Given the description of an element on the screen output the (x, y) to click on. 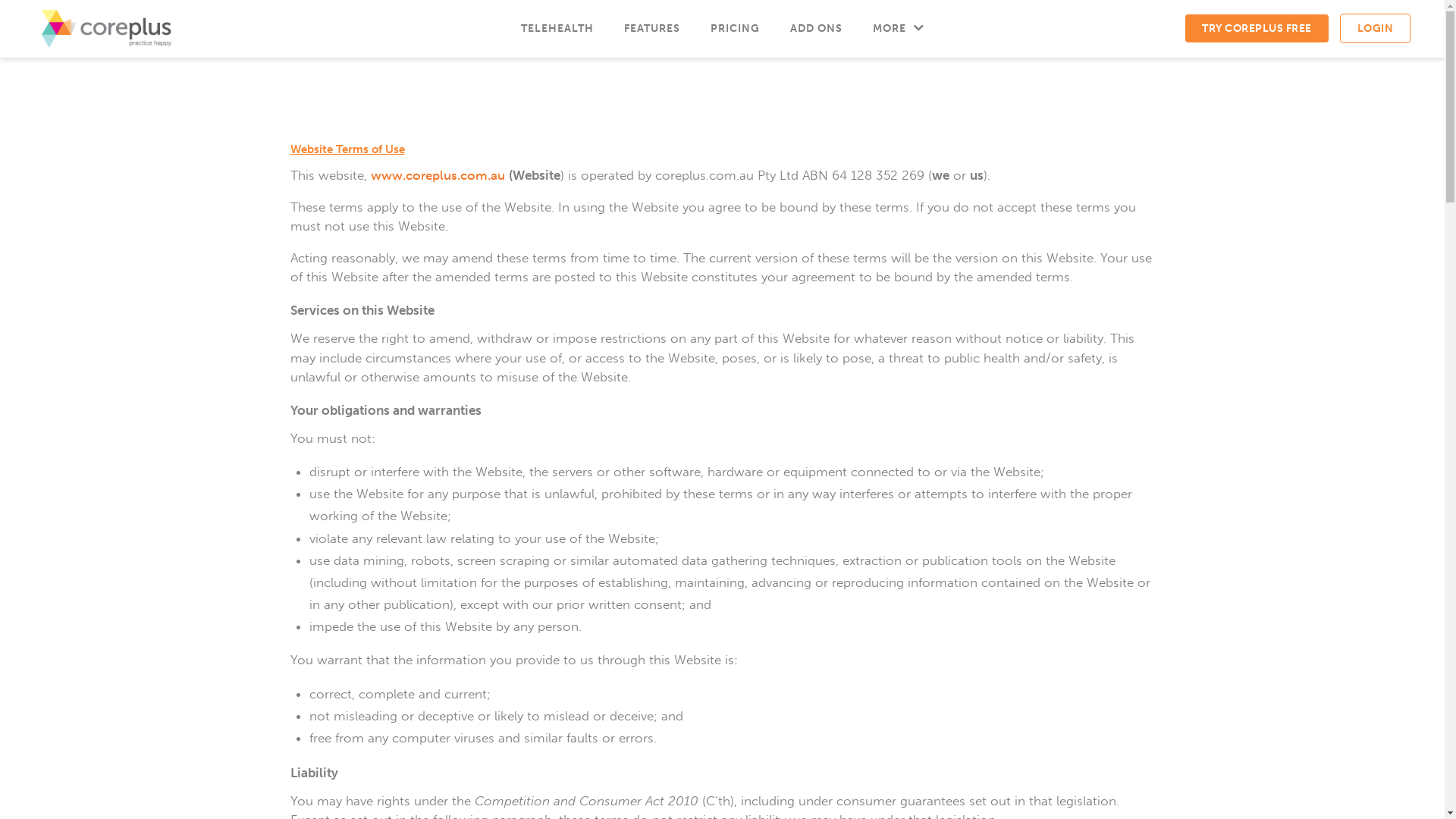
MORE Element type: text (897, 28)
LOGIN Element type: text (1374, 28)
PRICING Element type: text (734, 28)
FEATURES Element type: text (651, 28)
www.coreplus.com.au Element type: text (437, 174)
TRY COREPLUS FREE Element type: text (1256, 28)
ADD ONS Element type: text (816, 28)
TELEHEALTH Element type: text (556, 28)
